Given the description of an element on the screen output the (x, y) to click on. 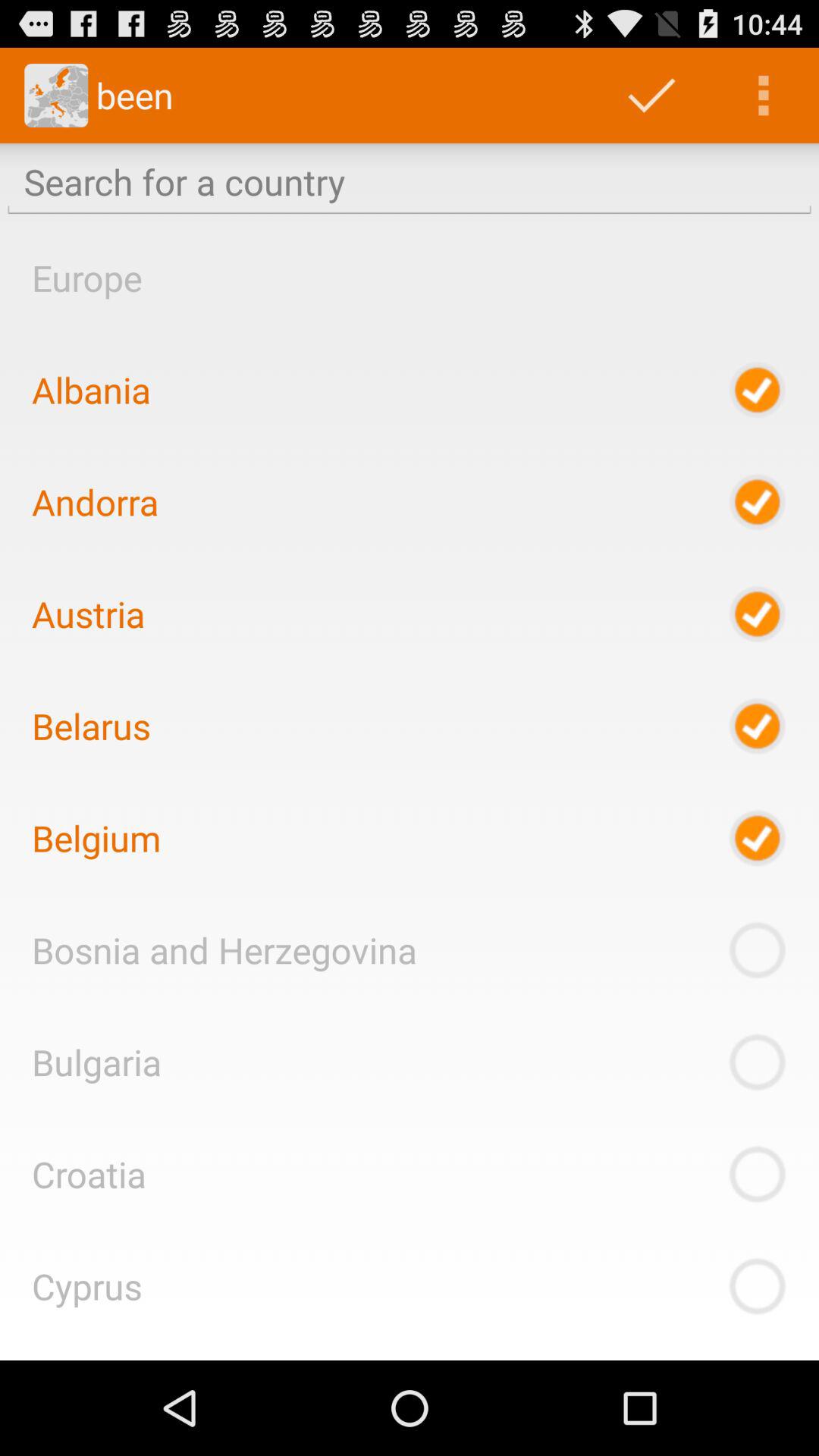
press albania item (90, 389)
